Given the description of an element on the screen output the (x, y) to click on. 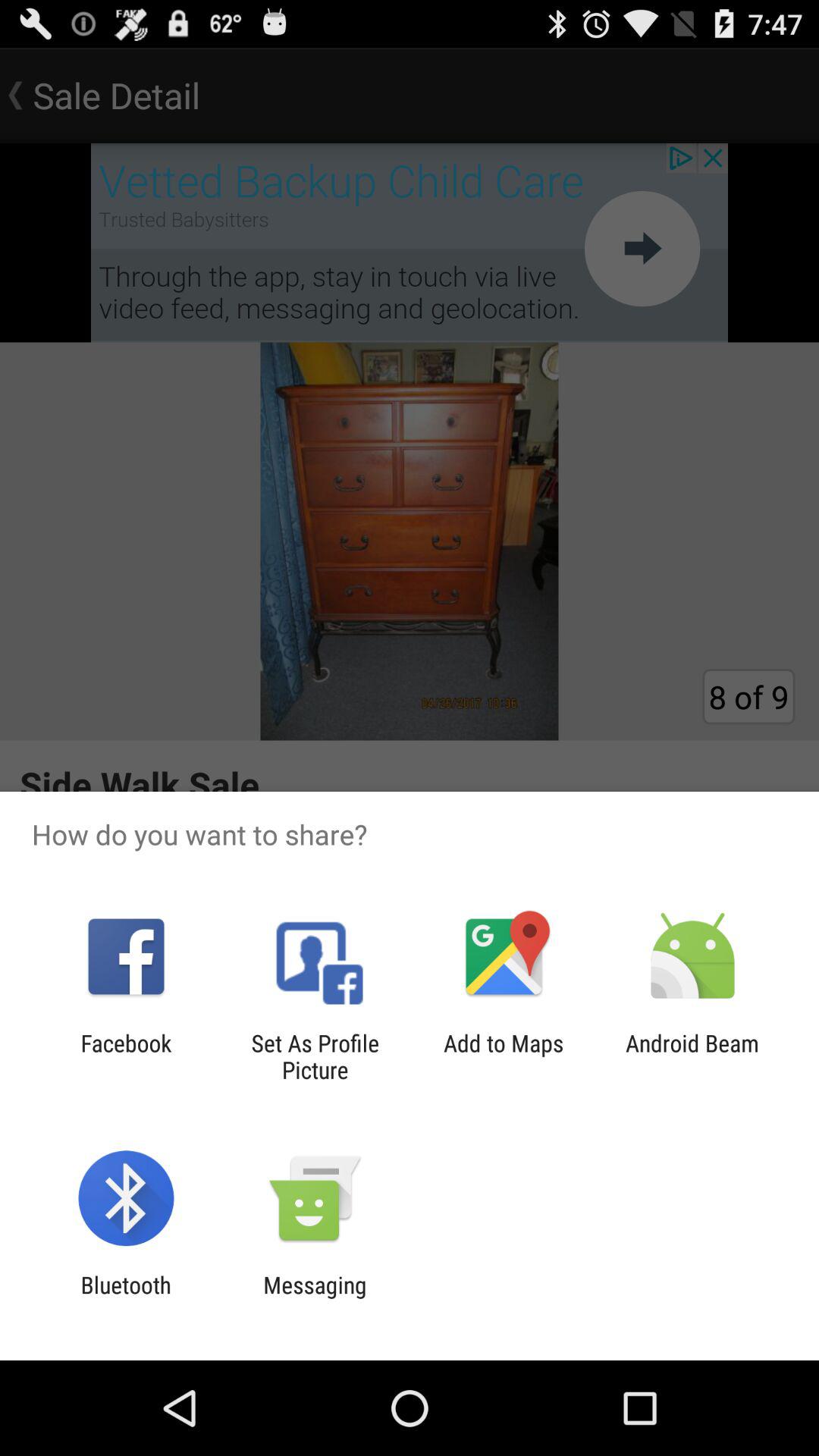
launch icon next to the set as profile (503, 1056)
